Given the description of an element on the screen output the (x, y) to click on. 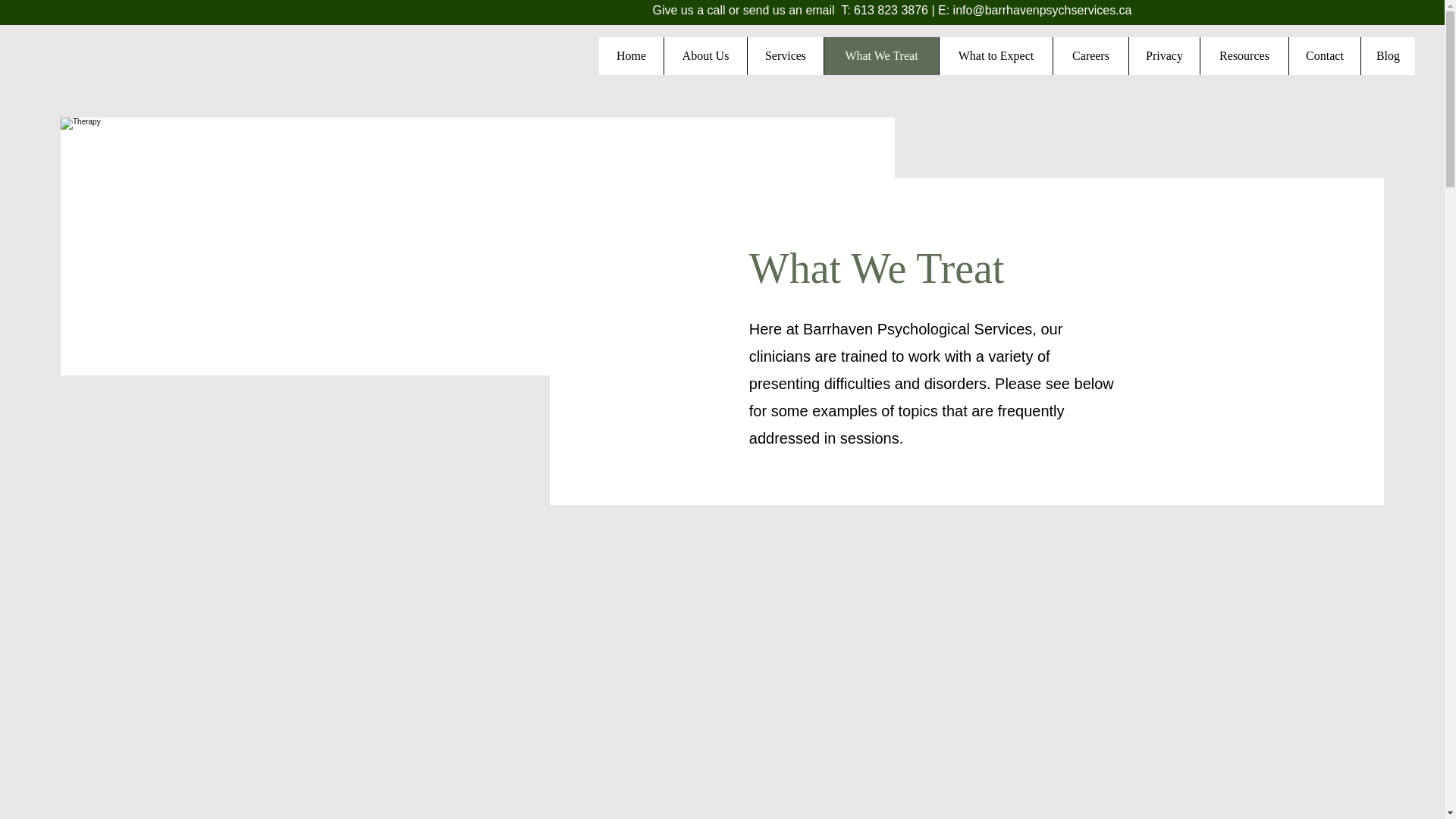
Careers (1090, 55)
Services (785, 55)
What We Treat (881, 55)
Contact (1323, 55)
Privacy (1163, 55)
About Us (704, 55)
Blog (1387, 55)
Home (630, 55)
Resources (1243, 55)
What to Expect (995, 55)
